Given the description of an element on the screen output the (x, y) to click on. 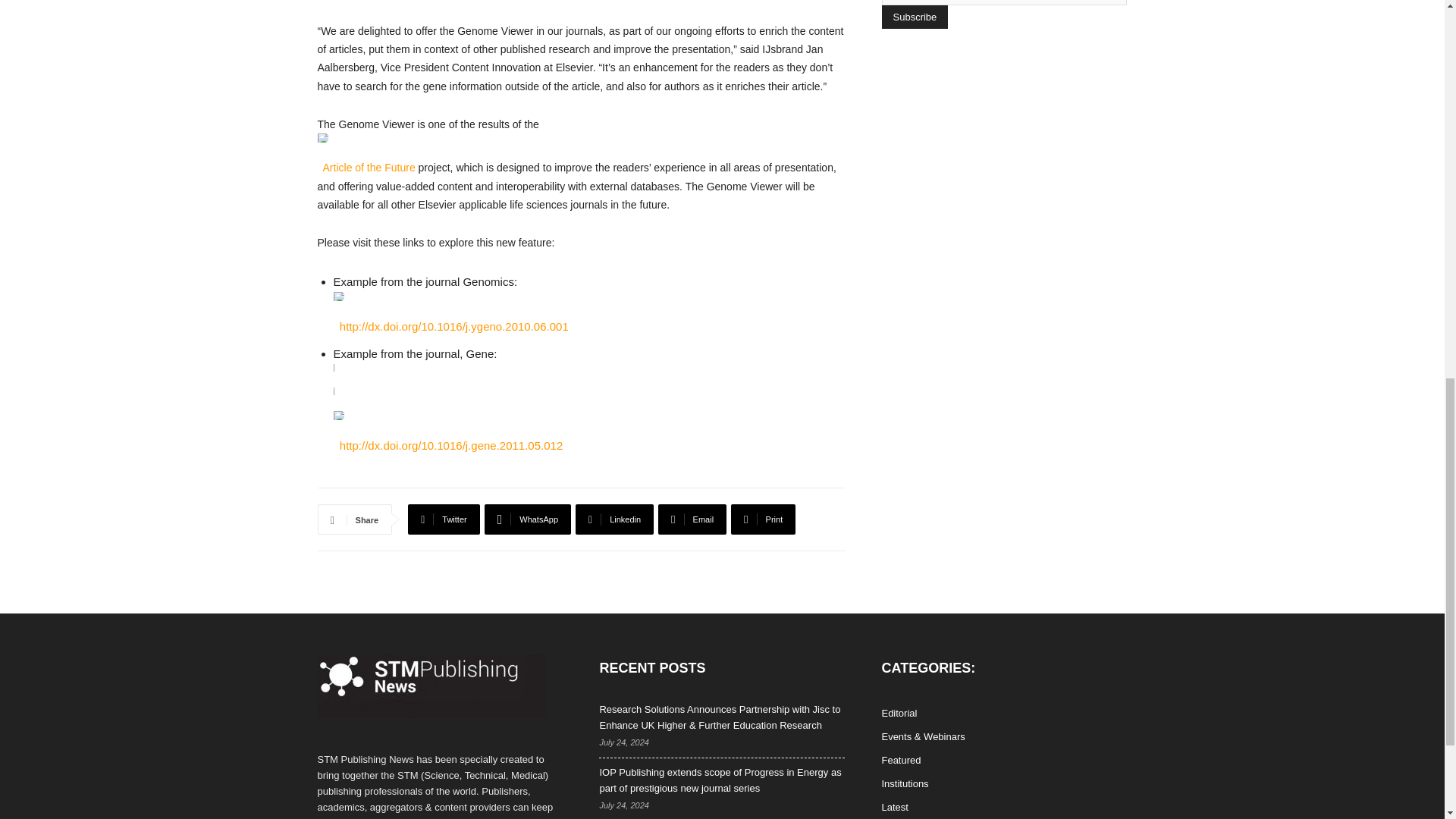
Subscribe (913, 16)
